Given the description of an element on the screen output the (x, y) to click on. 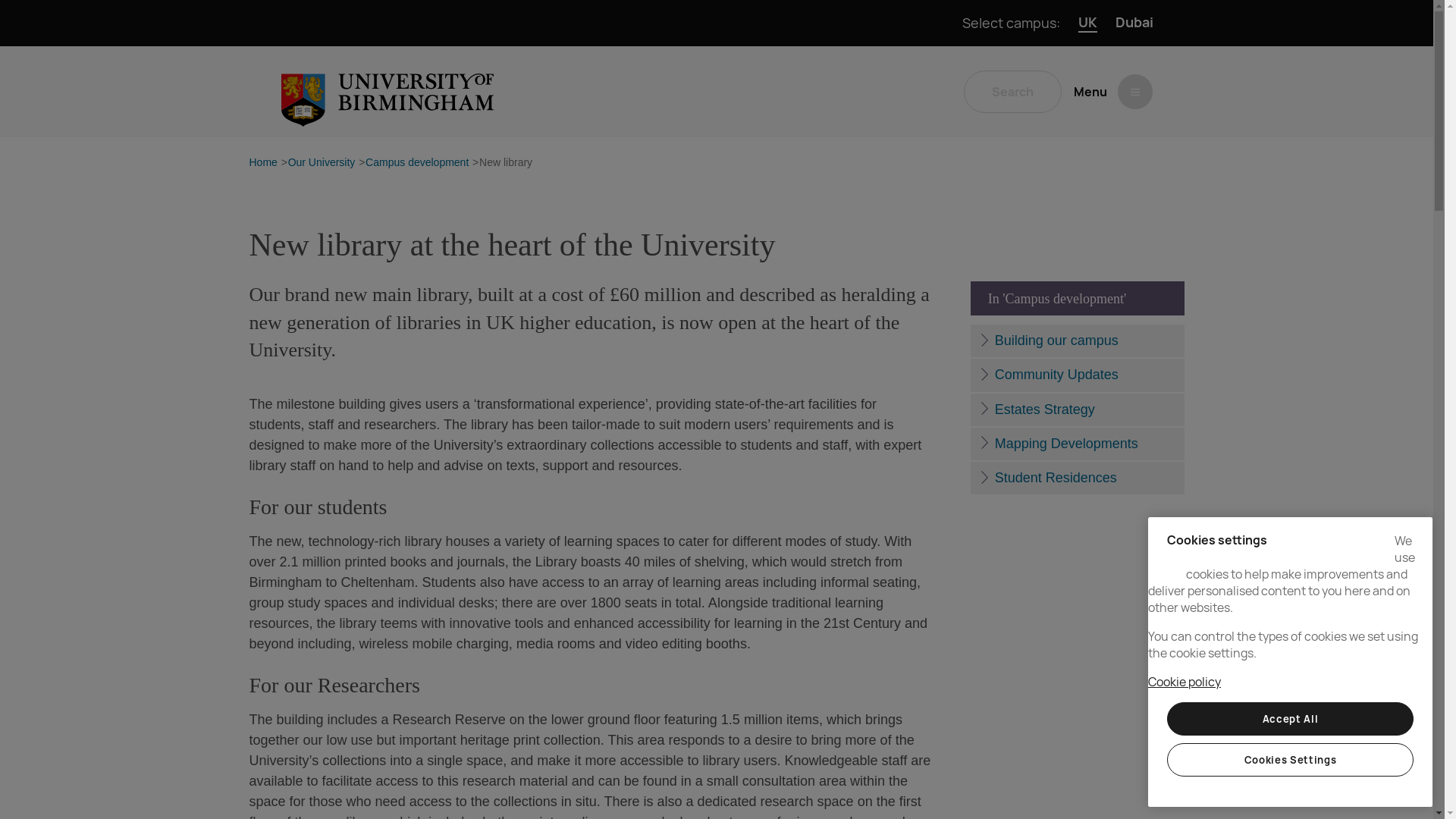
Community Updates (1077, 374)
Search (1012, 91)
Estates Strategy (1077, 409)
Our University (321, 163)
Building our campus (1077, 340)
UK (1087, 23)
Mapping Developments (1077, 443)
Campus development (416, 163)
New library (505, 163)
Home (262, 163)
Student Residences (1077, 477)
Dubai (1134, 23)
